Given the description of an element on the screen output the (x, y) to click on. 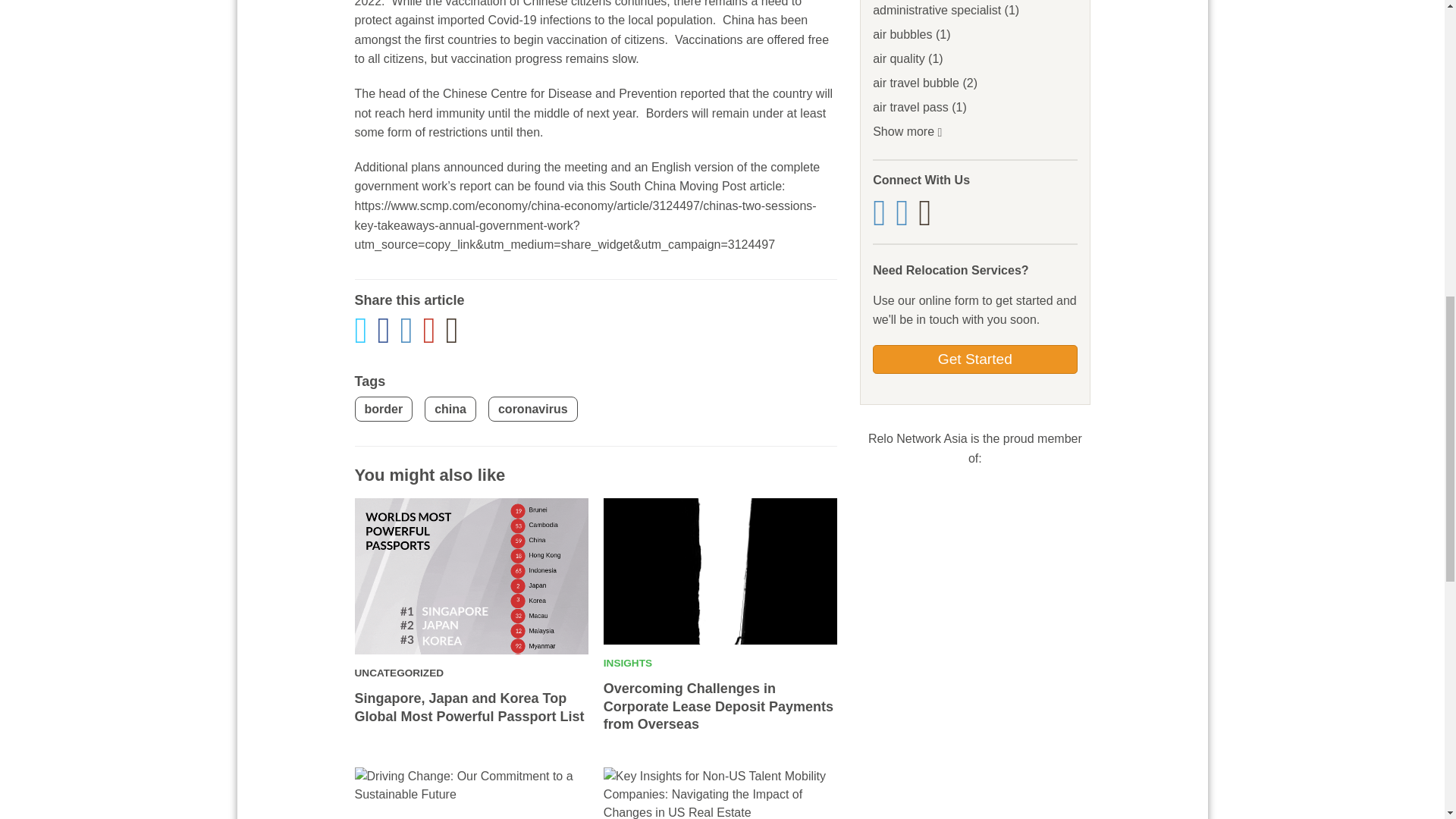
Driving Change: Our Commitment to a Sustainable Future (471, 793)
